Given the description of an element on the screen output the (x, y) to click on. 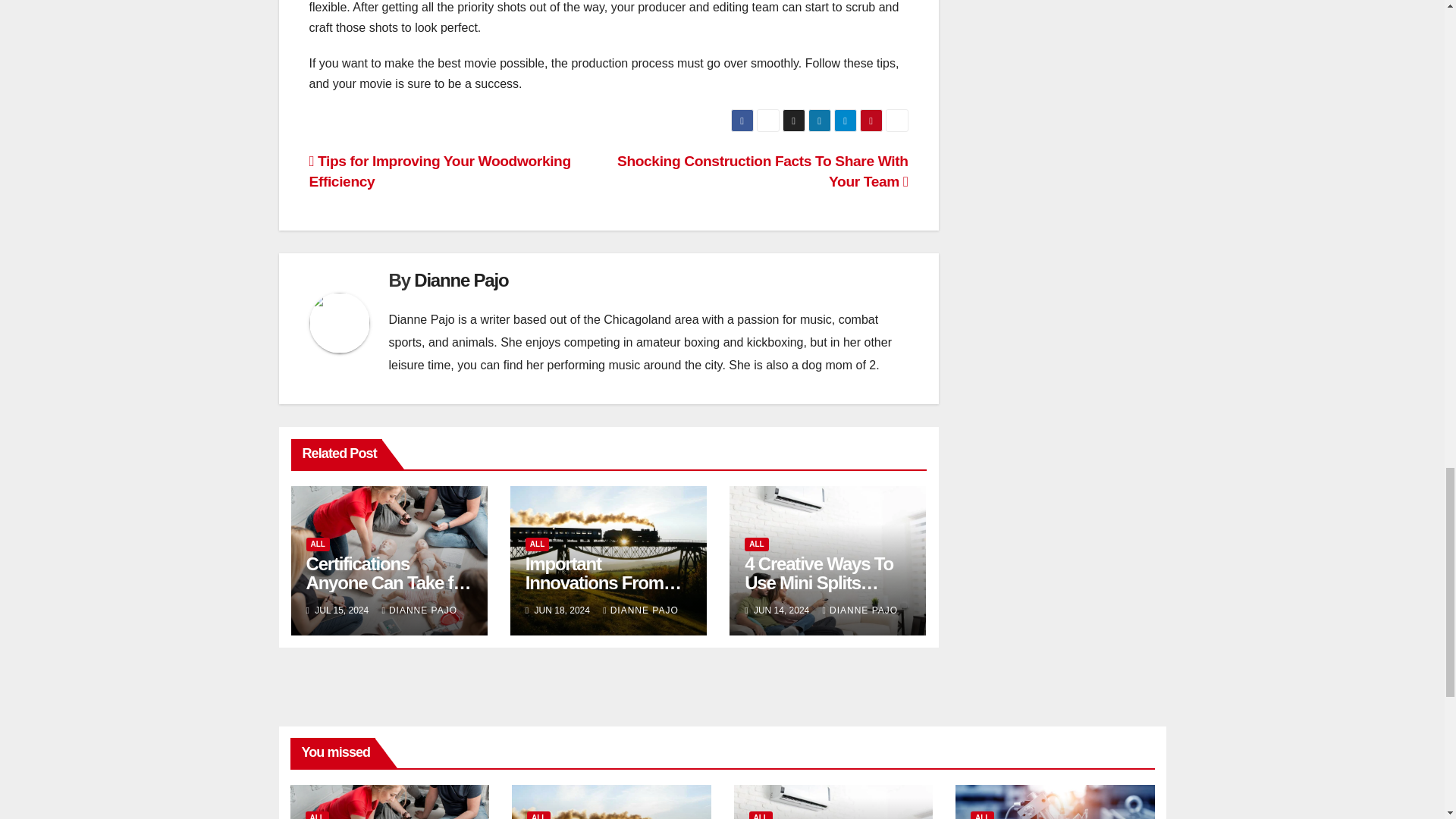
DIANNE PAJO (419, 610)
Certifications Anyone Can Take for Career Advancement (388, 582)
Dianne Pajo (460, 280)
Important Innovations From the Industrial Revolution (603, 591)
Tips for Improving Your Woodworking Efficiency (439, 171)
ALL (317, 544)
Shocking Construction Facts To Share With Your Team (762, 171)
ALL (536, 544)
